Given the description of an element on the screen output the (x, y) to click on. 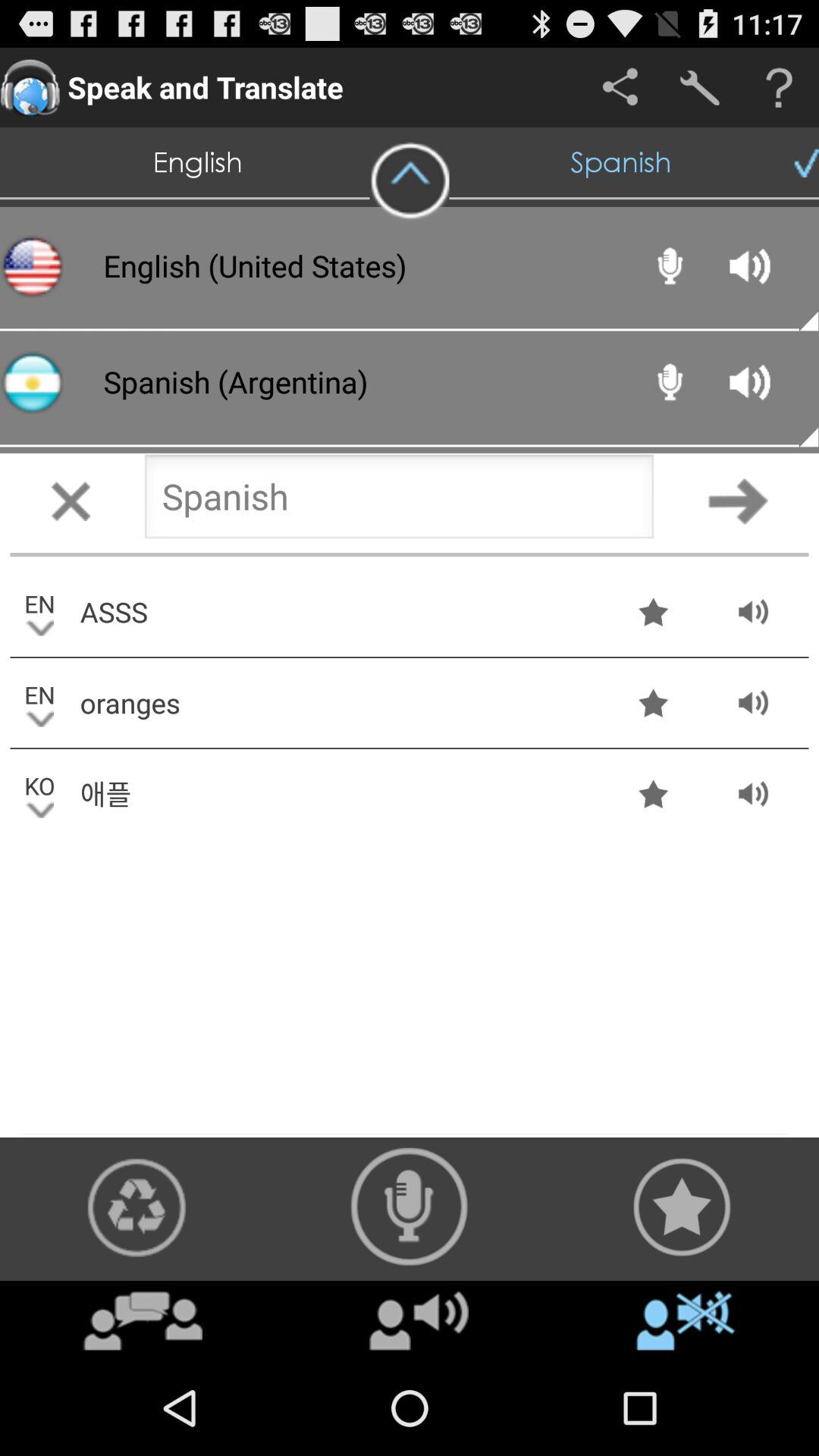
choose asss app (338, 611)
